Given the description of an element on the screen output the (x, y) to click on. 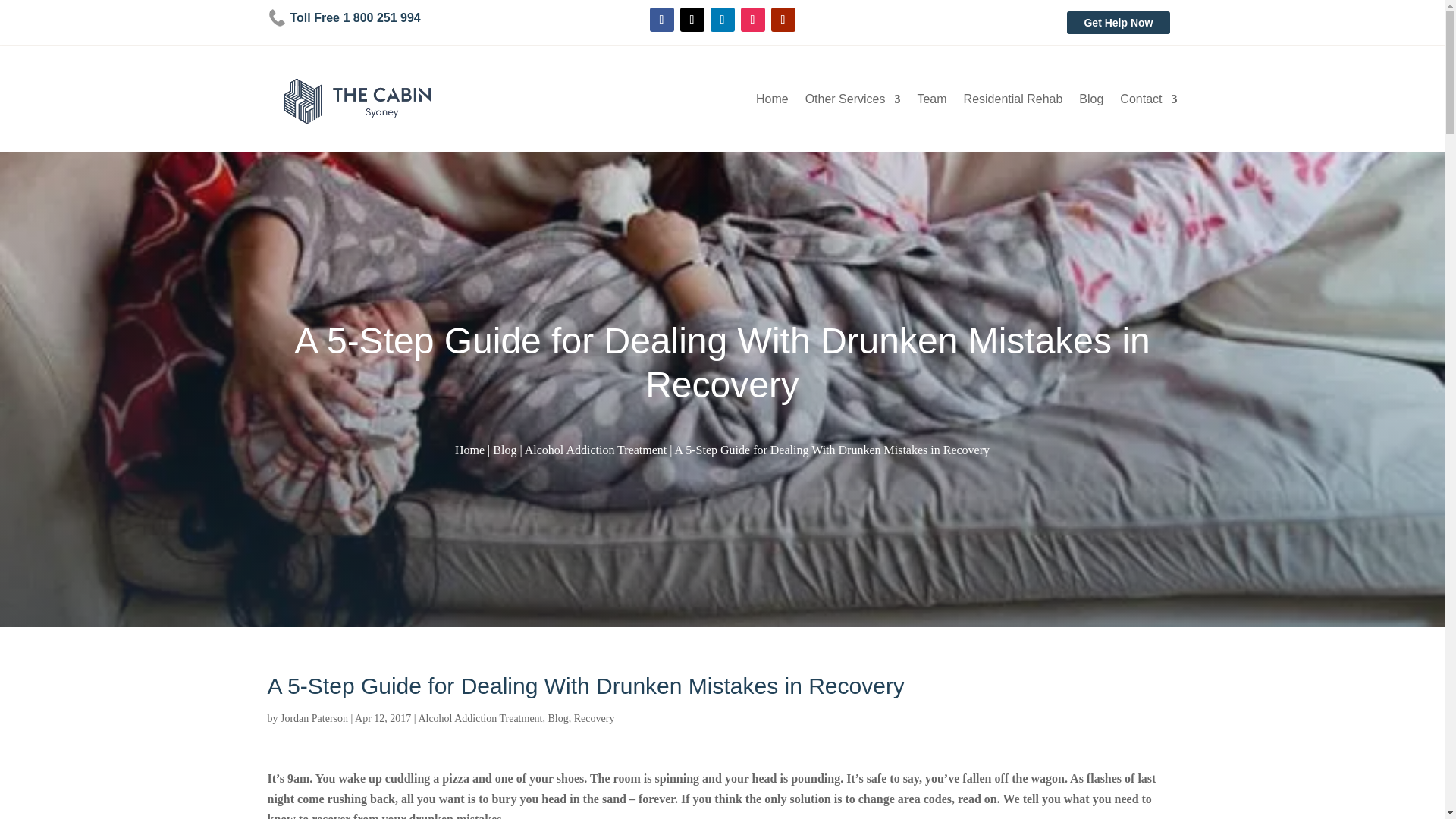
Team (931, 102)
Residential Rehab (1012, 102)
Get Help Now (1118, 22)
Follow on Facebook (660, 19)
Home (469, 449)
Follow on Youtube (782, 19)
The Cabin Sydney  logo (356, 99)
Follow on LinkedIn (721, 19)
Toll Free 1 800 251 994 (343, 17)
Home (772, 102)
Alcohol Addiction Treatment (595, 449)
Blog (1090, 102)
Follow on X (691, 19)
Blog (504, 449)
Other Services (853, 102)
